Given the description of an element on the screen output the (x, y) to click on. 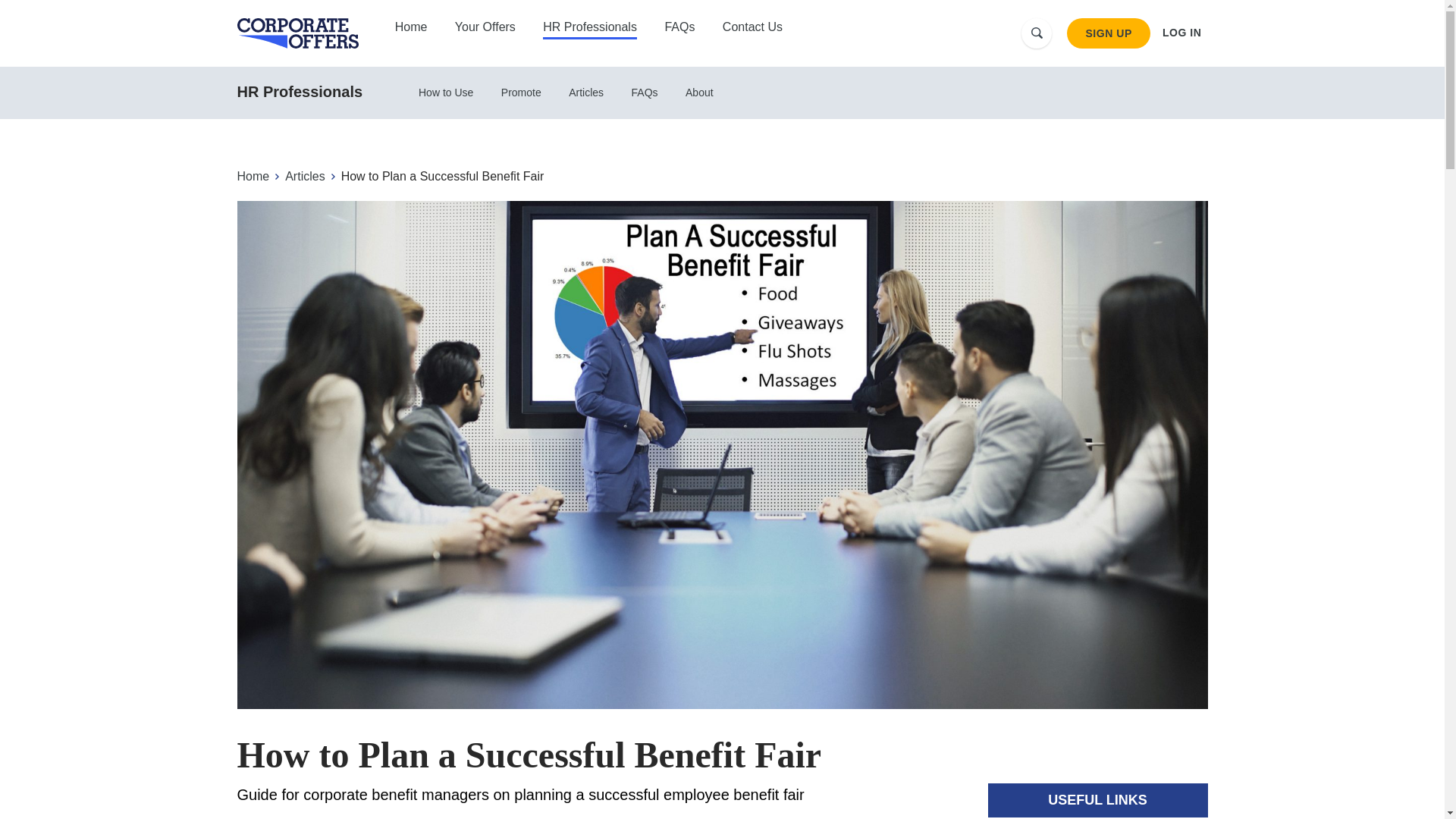
Home (410, 29)
Home (254, 176)
Articles (585, 92)
FAQs (679, 29)
Articles (307, 176)
HR Professionals (298, 91)
How to Use (445, 92)
Promote (521, 92)
Your Offers (484, 29)
FAQs (644, 92)
